Given the description of an element on the screen output the (x, y) to click on. 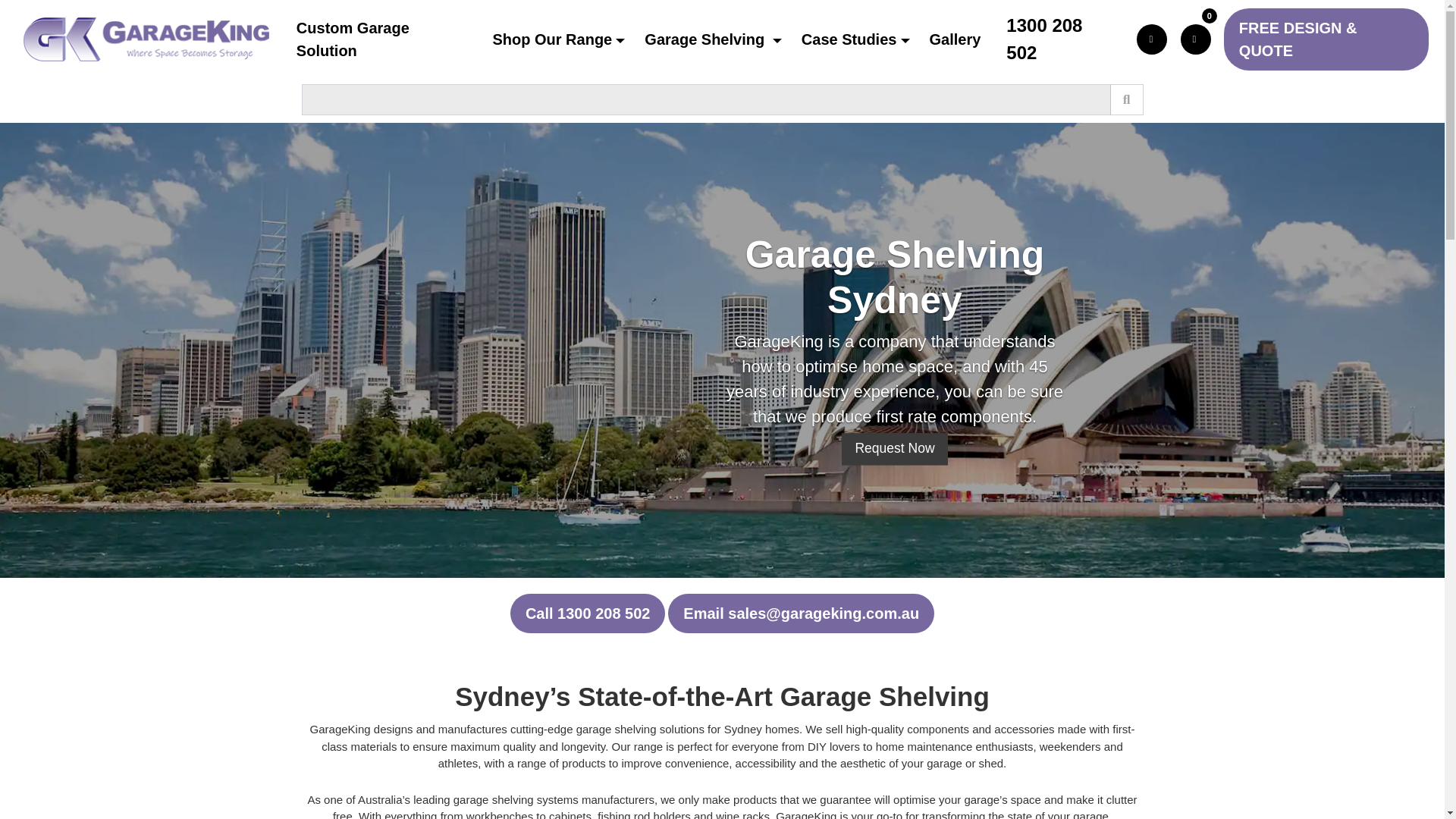
Custom Garage Solution (390, 38)
Garage Shelving (719, 39)
GarageKing Pty Ltd (146, 39)
Case Studies (861, 39)
Shop Our Range (564, 39)
